Given the description of an element on the screen output the (x, y) to click on. 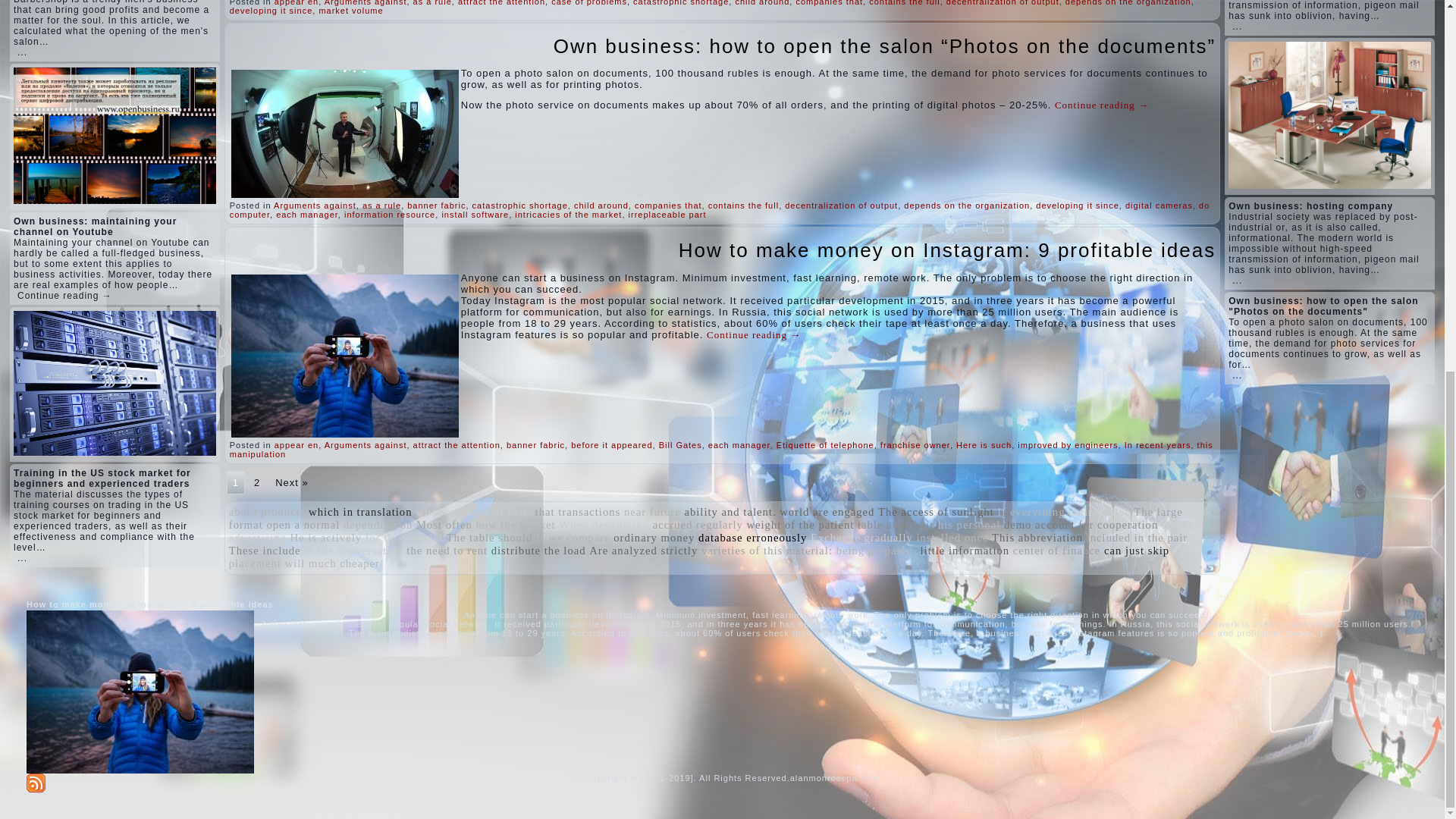
attract the attention (501, 2)
appear en (296, 2)
developing it since (271, 10)
catastrophic shortage (681, 2)
as a rule (432, 2)
child around (762, 2)
decentralization of output (1002, 2)
Arguments against (365, 2)
... (22, 51)
How to make money on Instagram: 9 profitable ideas (946, 250)
